Given the description of an element on the screen output the (x, y) to click on. 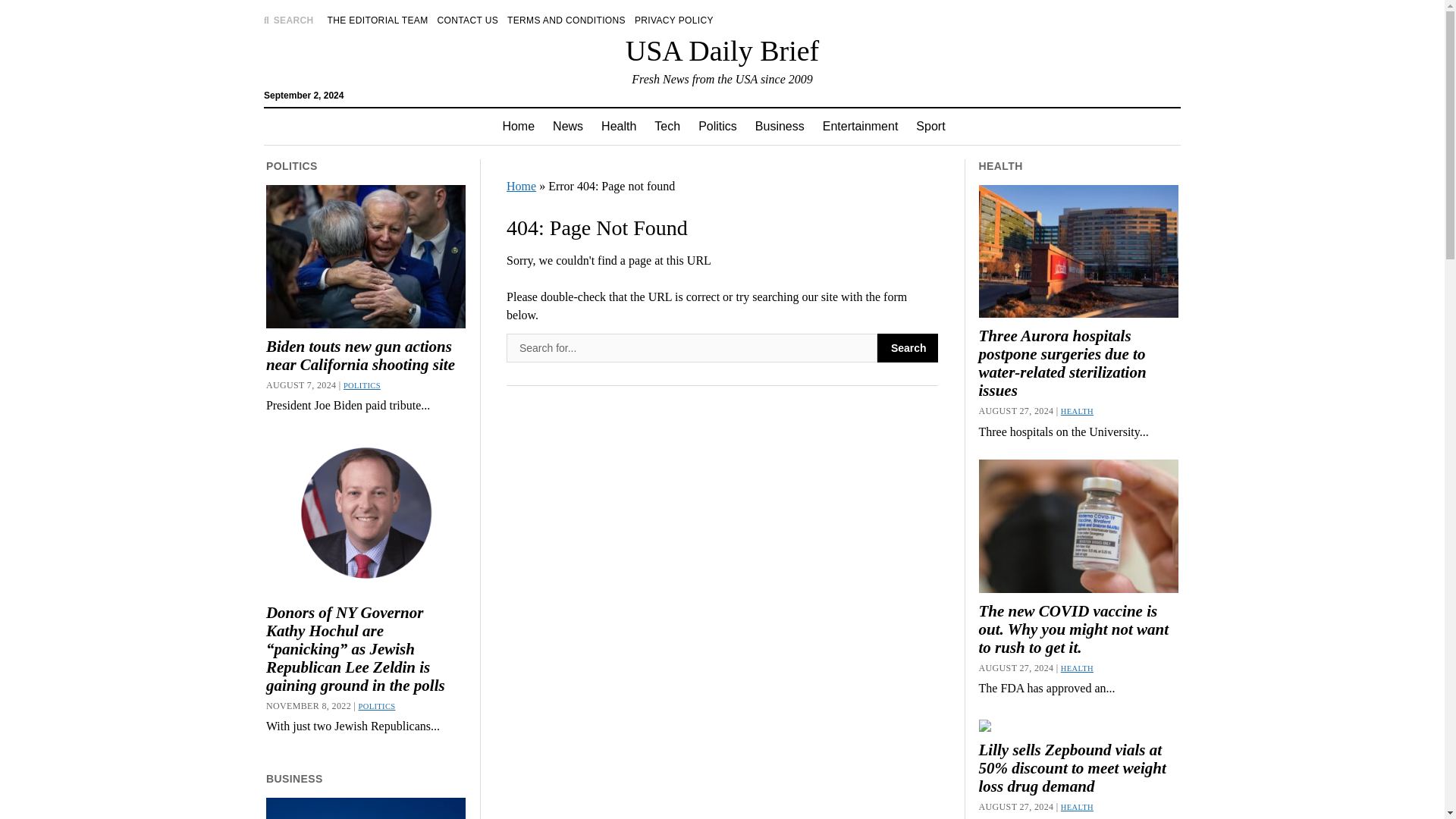
Search (907, 347)
POLITICS (361, 385)
Entertainment (860, 126)
Search (907, 347)
HEALTH (1077, 807)
Home (520, 185)
CONTACT US (468, 20)
HEALTH (1077, 668)
